Given the description of an element on the screen output the (x, y) to click on. 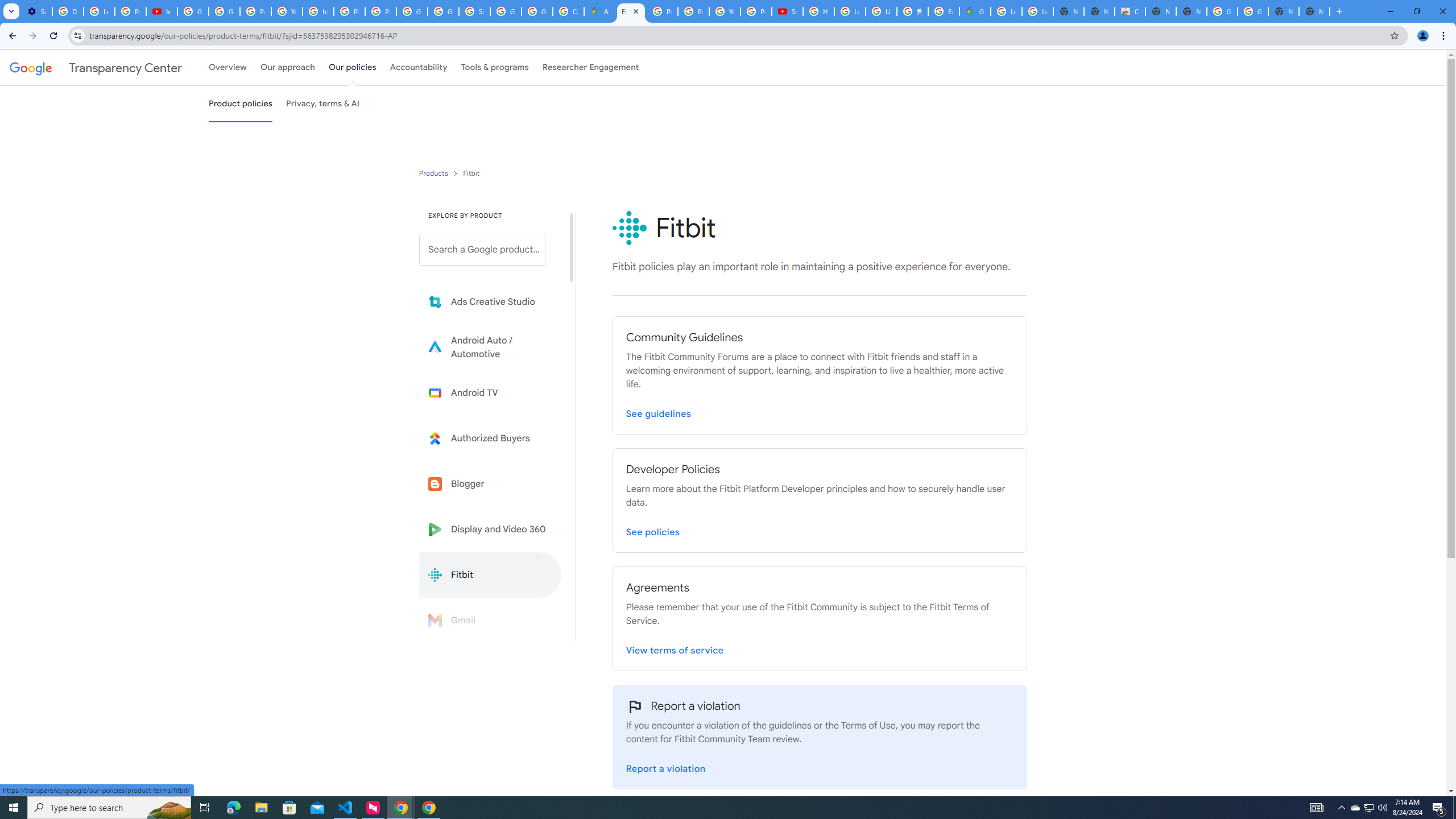
Report a violation (665, 766)
YouTube (724, 11)
Privacy Help Center - Policies Help (349, 11)
Learn more about Ads Creative Studio (490, 302)
Learn more about Android TV (490, 393)
Learn more about Ads Creative Studio (490, 302)
Accountability (418, 67)
Learn more about Android TV (490, 393)
New Tab (1314, 11)
